Given the description of an element on the screen output the (x, y) to click on. 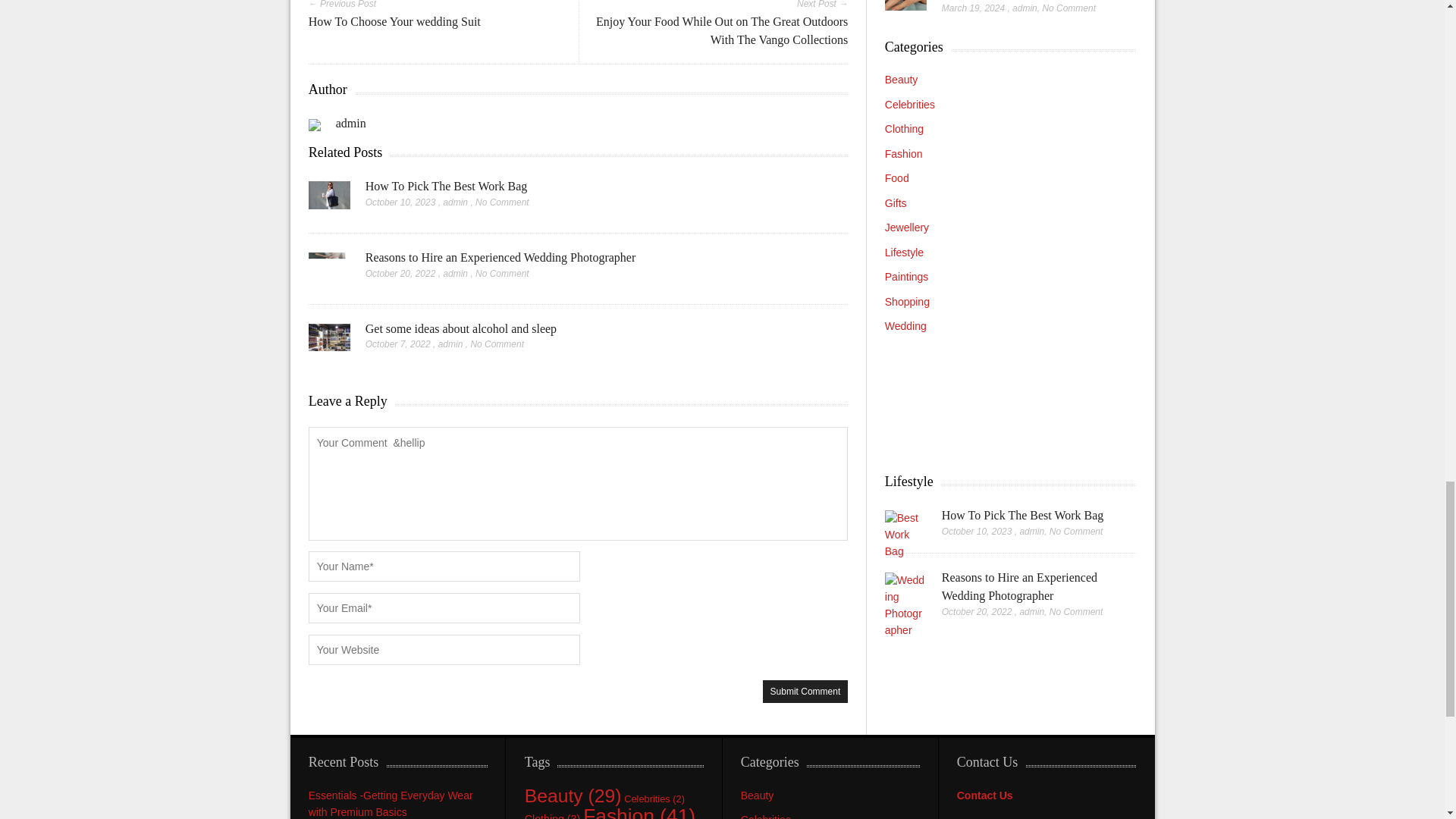
Get some ideas about alcohol and sleep (460, 328)
No Comment (502, 202)
admin (351, 123)
How To Pick The Best Work Bag (446, 185)
No Comment (497, 344)
How To Pick The Best Work Bag (446, 185)
Posts by admin (454, 273)
Reasons to Hire an Experienced Wedding Photographer (500, 256)
admin (454, 273)
Reasons to Hire an Experienced Wedding Photographer (500, 256)
Reasons to Hire an Experienced Wedding Photographer (329, 270)
admin (450, 344)
Posts by admin (351, 123)
Submit Comment (805, 691)
Posts by admin (454, 202)
